Given the description of an element on the screen output the (x, y) to click on. 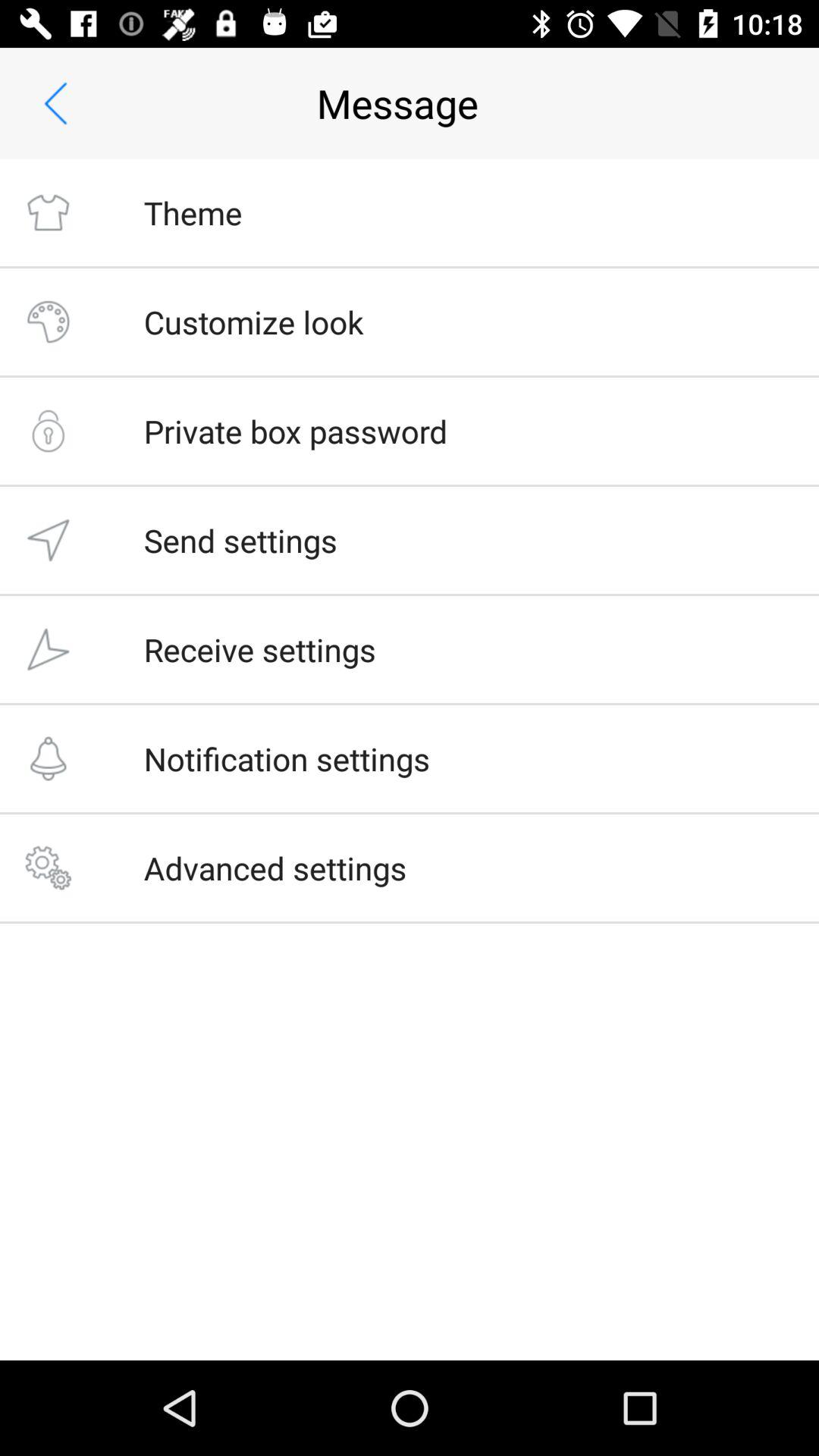
open the item below the private box password (240, 539)
